Given the description of an element on the screen output the (x, y) to click on. 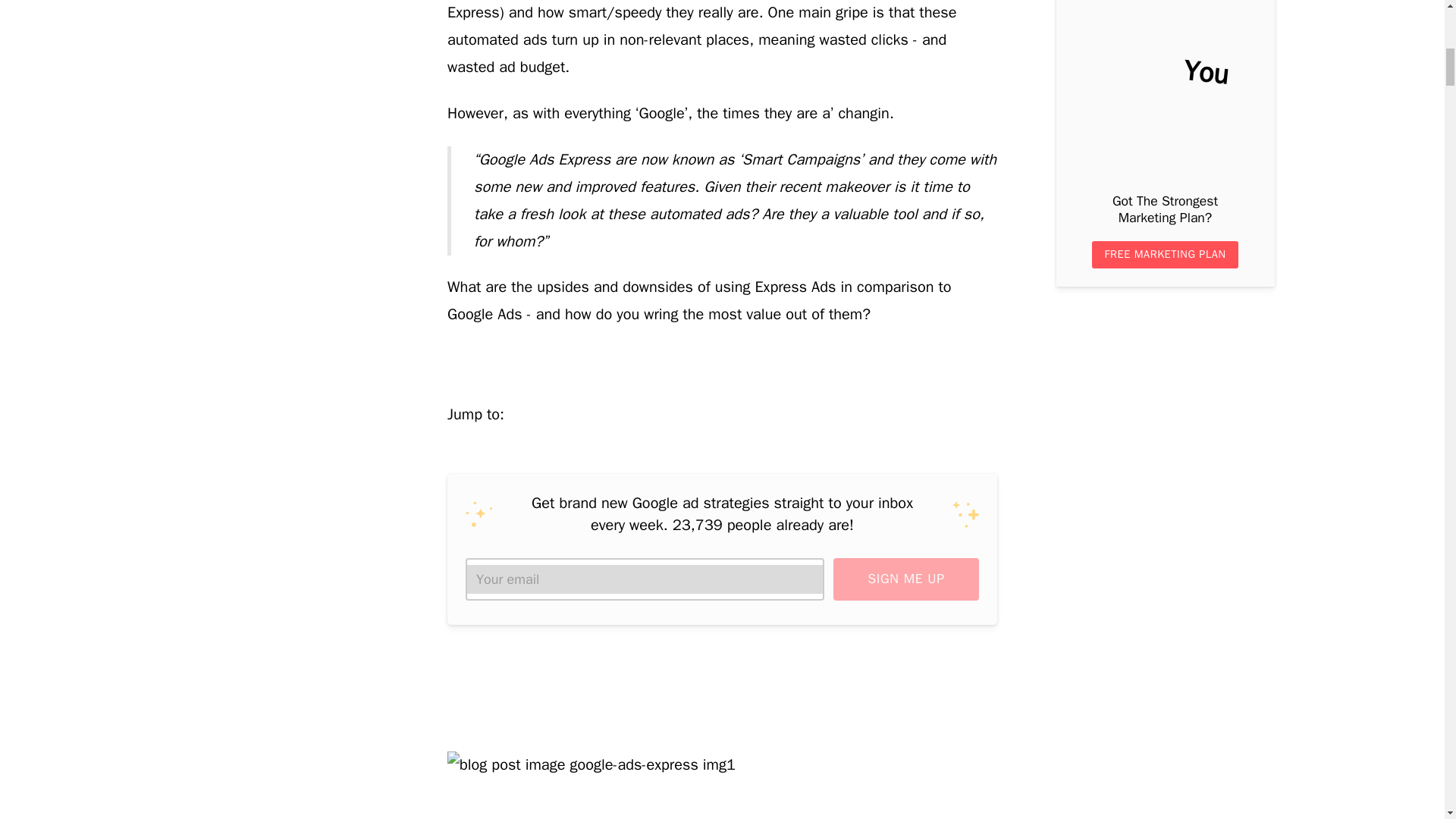
SIGN ME UP (905, 578)
